Given the description of an element on the screen output the (x, y) to click on. 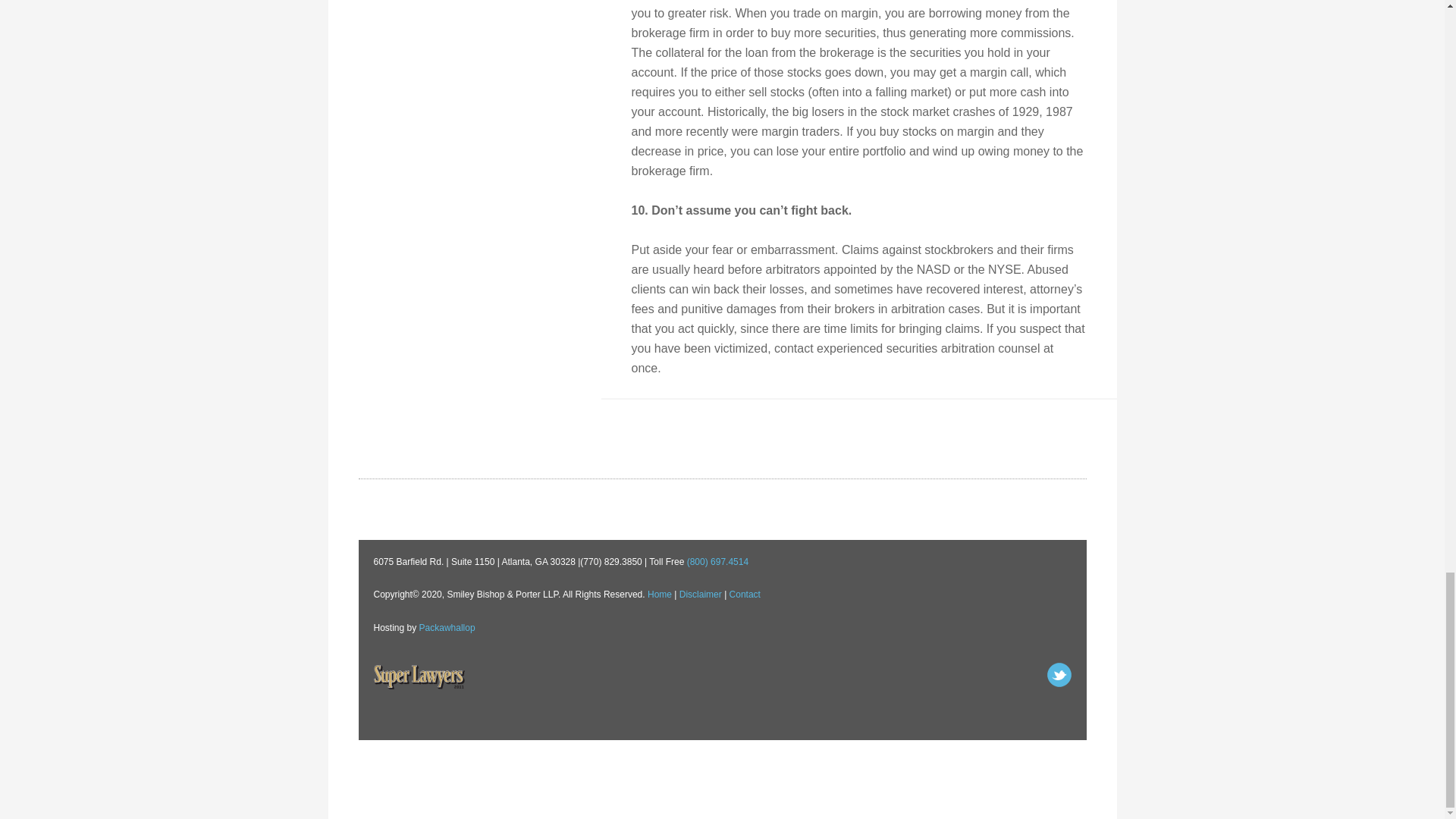
Contact (744, 593)
Packawhallop Linux hosting for web, file, database and email (447, 627)
Packawhallop (447, 627)
Home (659, 593)
Disclaimer (700, 593)
